Given the description of an element on the screen output the (x, y) to click on. 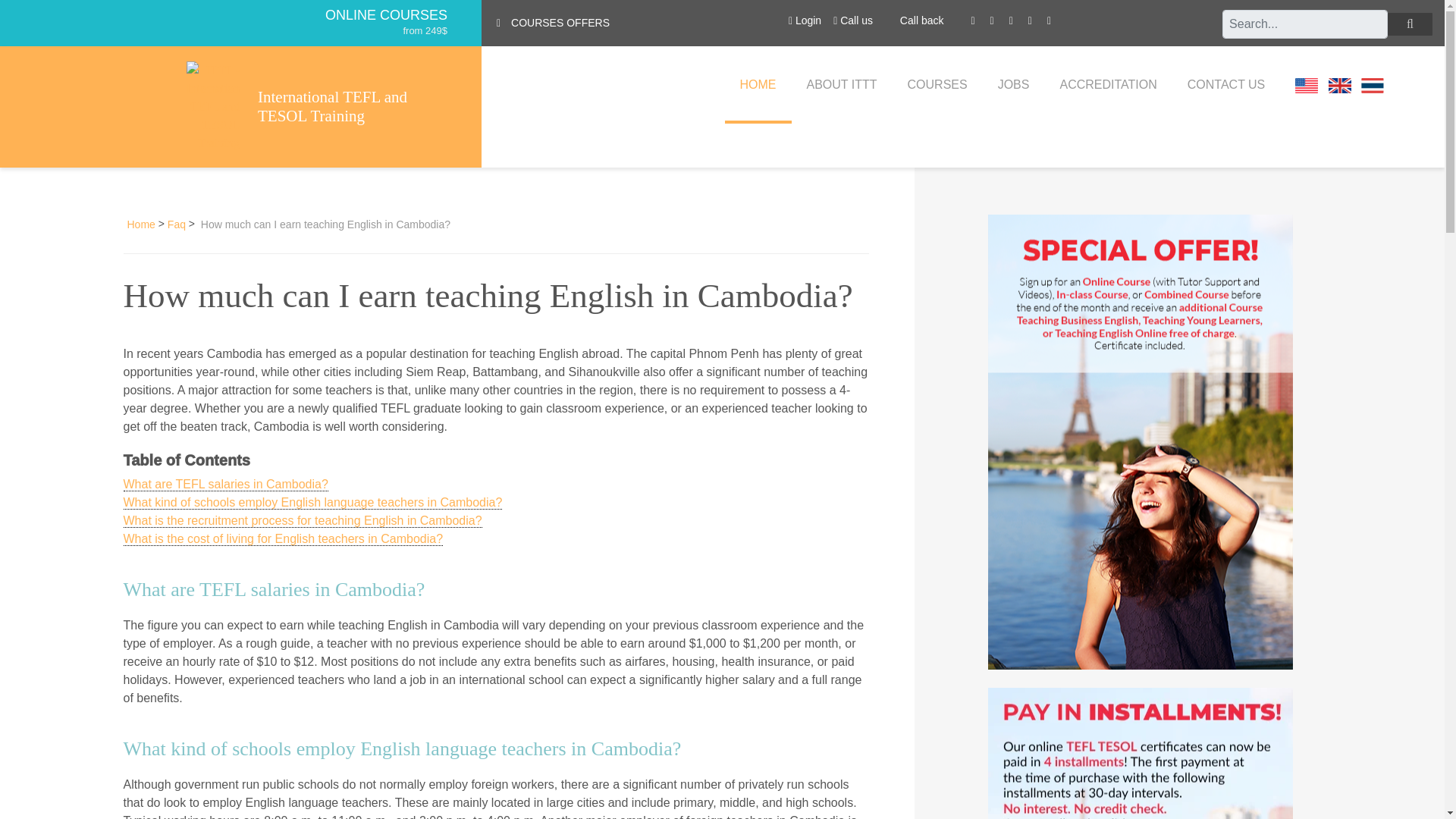
Call us (852, 20)
Thailand Office (1372, 85)
JOBS (1013, 84)
ABOUT ITTT (842, 84)
Call back (919, 22)
COURSES (937, 84)
International TEFL and TESOL Training (351, 106)
USA Office (1306, 85)
UK Office (1339, 85)
HOME (758, 84)
ACCREDITATION (1107, 84)
CONTACT US (1226, 84)
ONLINE COURSES (385, 14)
Login (805, 20)
